Given the description of an element on the screen output the (x, y) to click on. 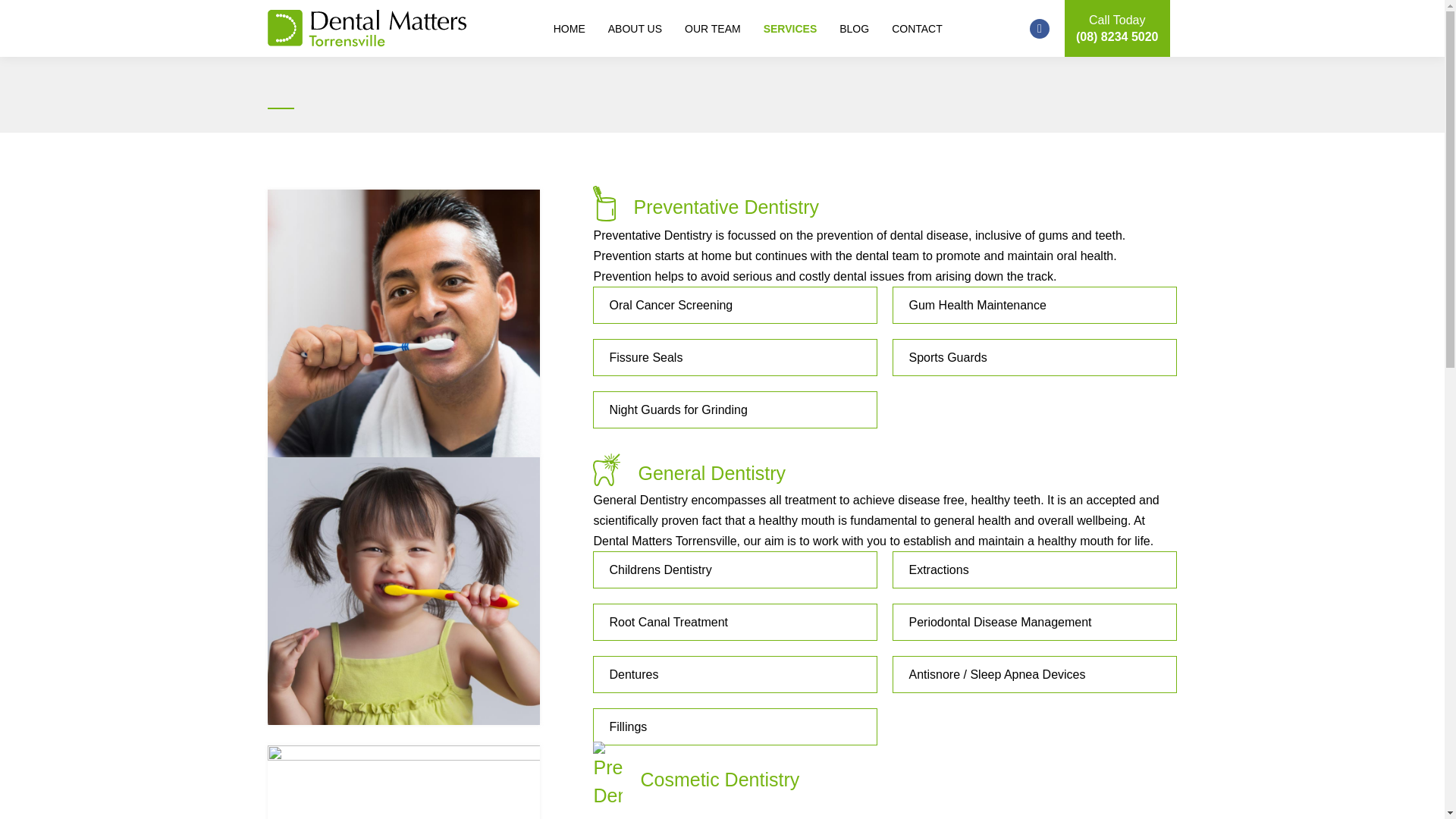
services-generaldentistry-thumbnail (403, 590)
OUR TEAM (712, 28)
services-preventative-dentistry-thumbnail (403, 323)
ABOUT US (634, 28)
BLOG (854, 28)
HOME (568, 28)
services-cosmetic-dentistry-thumbnail (403, 782)
SERVICES (790, 28)
Facebook page opens in new window (1039, 28)
Facebook page opens in new window (1039, 28)
